Given the description of an element on the screen output the (x, y) to click on. 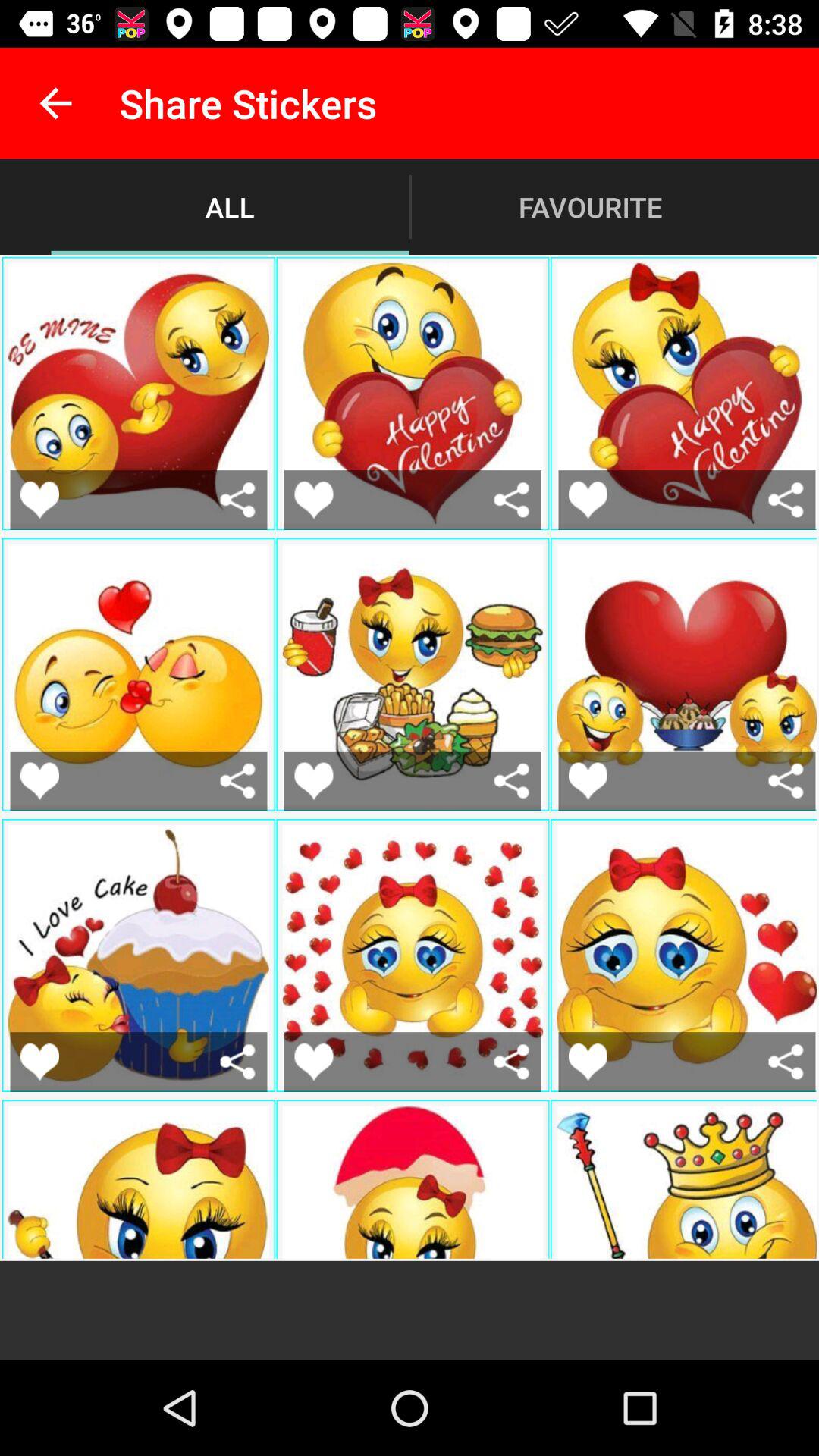
like image (39, 1061)
